Given the description of an element on the screen output the (x, y) to click on. 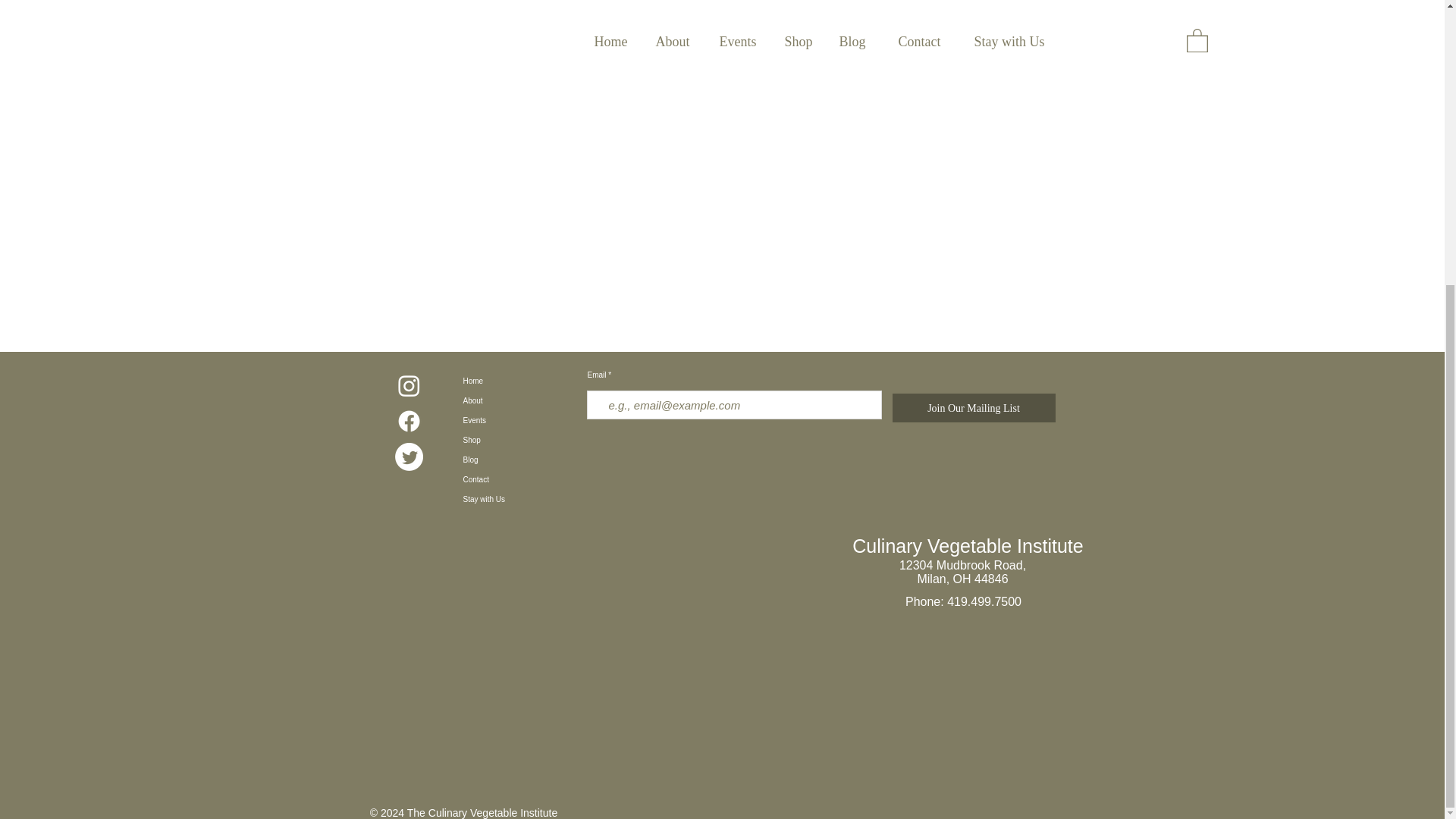
About (520, 401)
Contact (520, 479)
Events (520, 420)
Blog (520, 460)
Stay with Us (520, 499)
Join Our Mailing List (972, 407)
Home (520, 381)
Shop (520, 440)
